Given the description of an element on the screen output the (x, y) to click on. 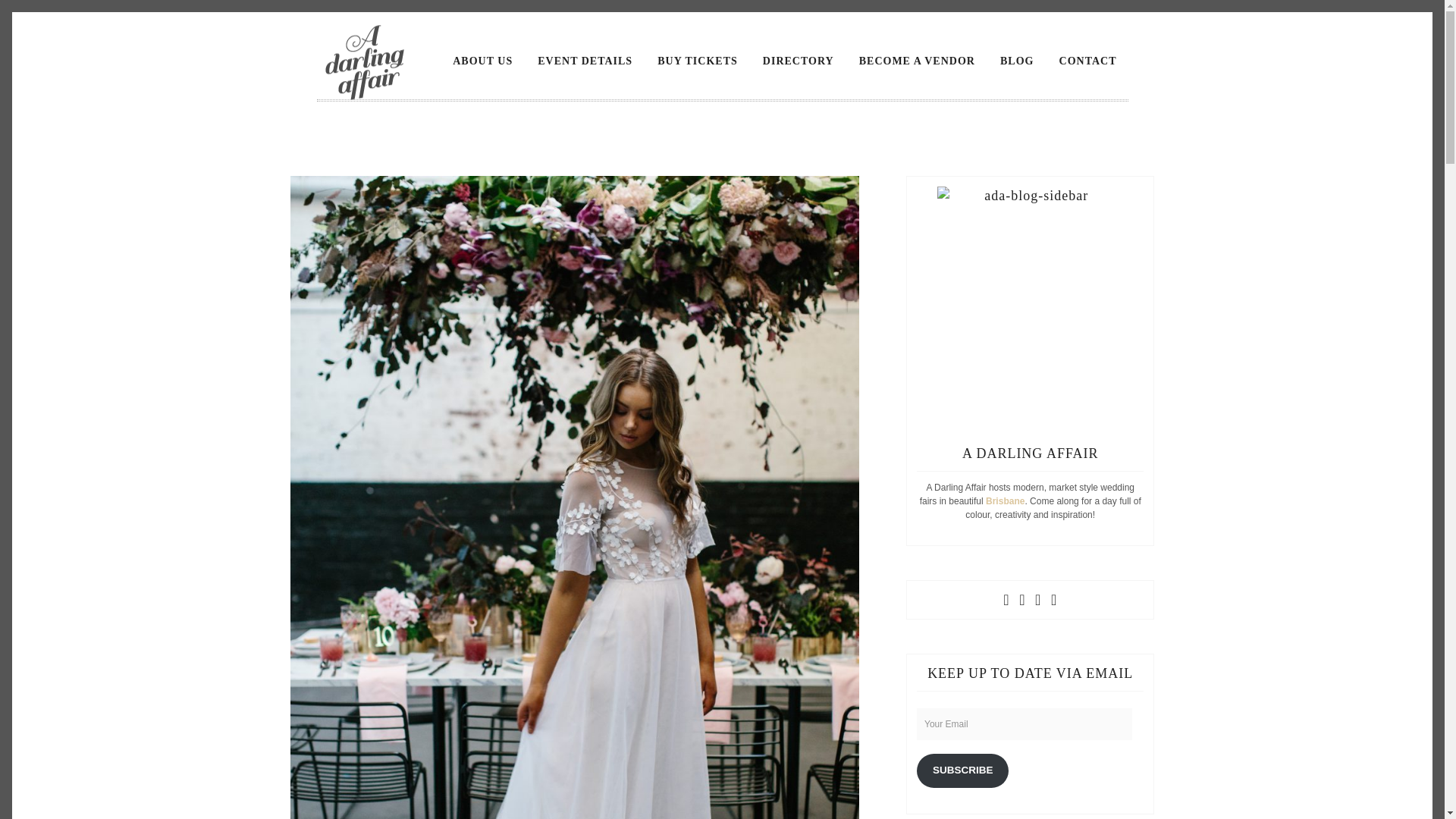
EVENT DETAILS (584, 61)
Brisbane (1005, 501)
BUY TICKETS (697, 61)
ABOUT US (482, 61)
CONTACT (1088, 61)
Brisbane (1005, 501)
SUBSCRIBE (963, 770)
BECOME A VENDOR (917, 61)
DIRECTORY (798, 61)
